Given the description of an element on the screen output the (x, y) to click on. 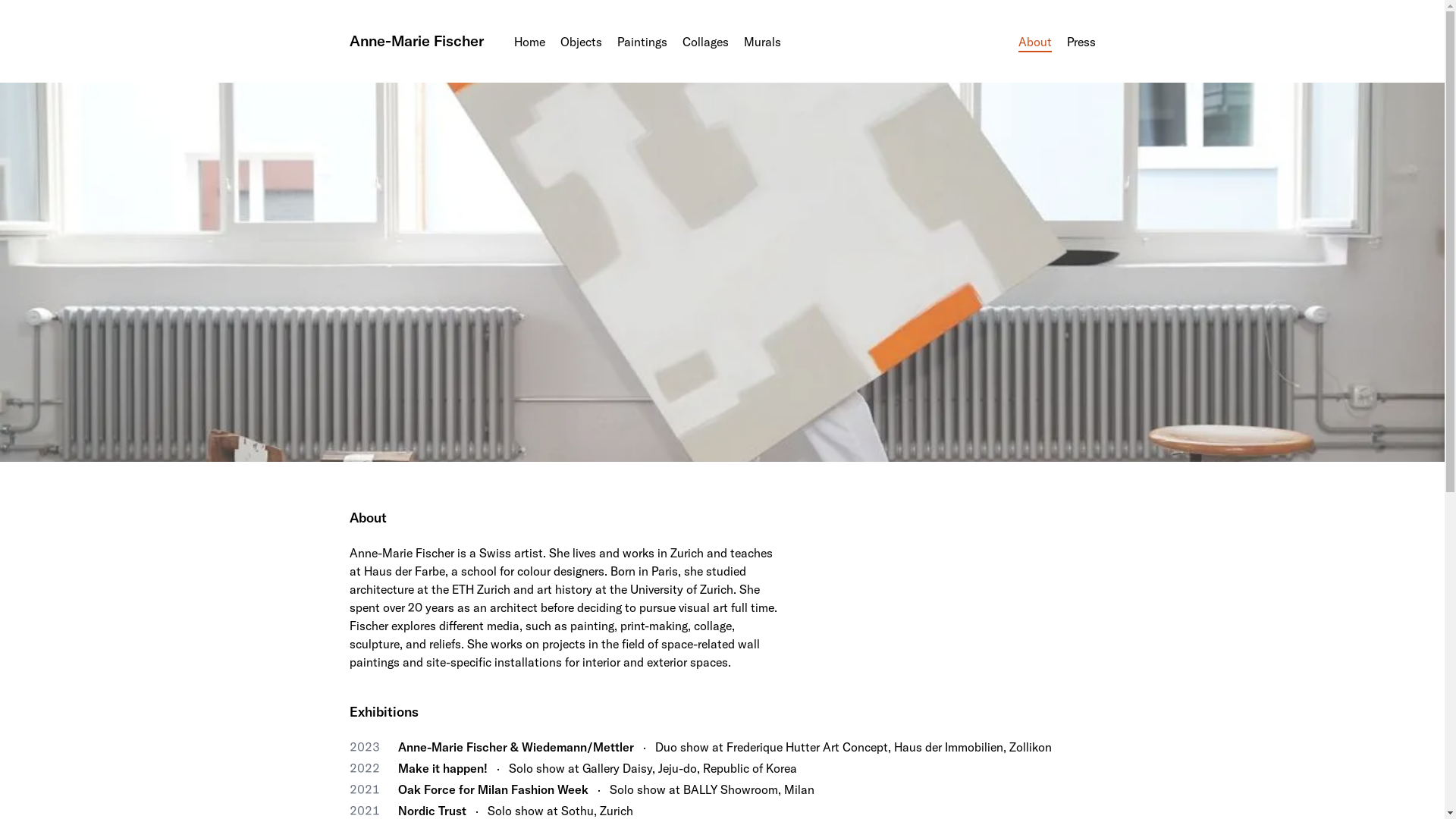
Press Element type: text (1080, 41)
Collages Element type: text (705, 41)
About Element type: text (1034, 41)
Paintings Element type: text (642, 41)
Murals Element type: text (761, 41)
Objects Element type: text (580, 41)
Anne-Marie Fischer Element type: text (415, 40)
Home Element type: text (529, 41)
